Given the description of an element on the screen output the (x, y) to click on. 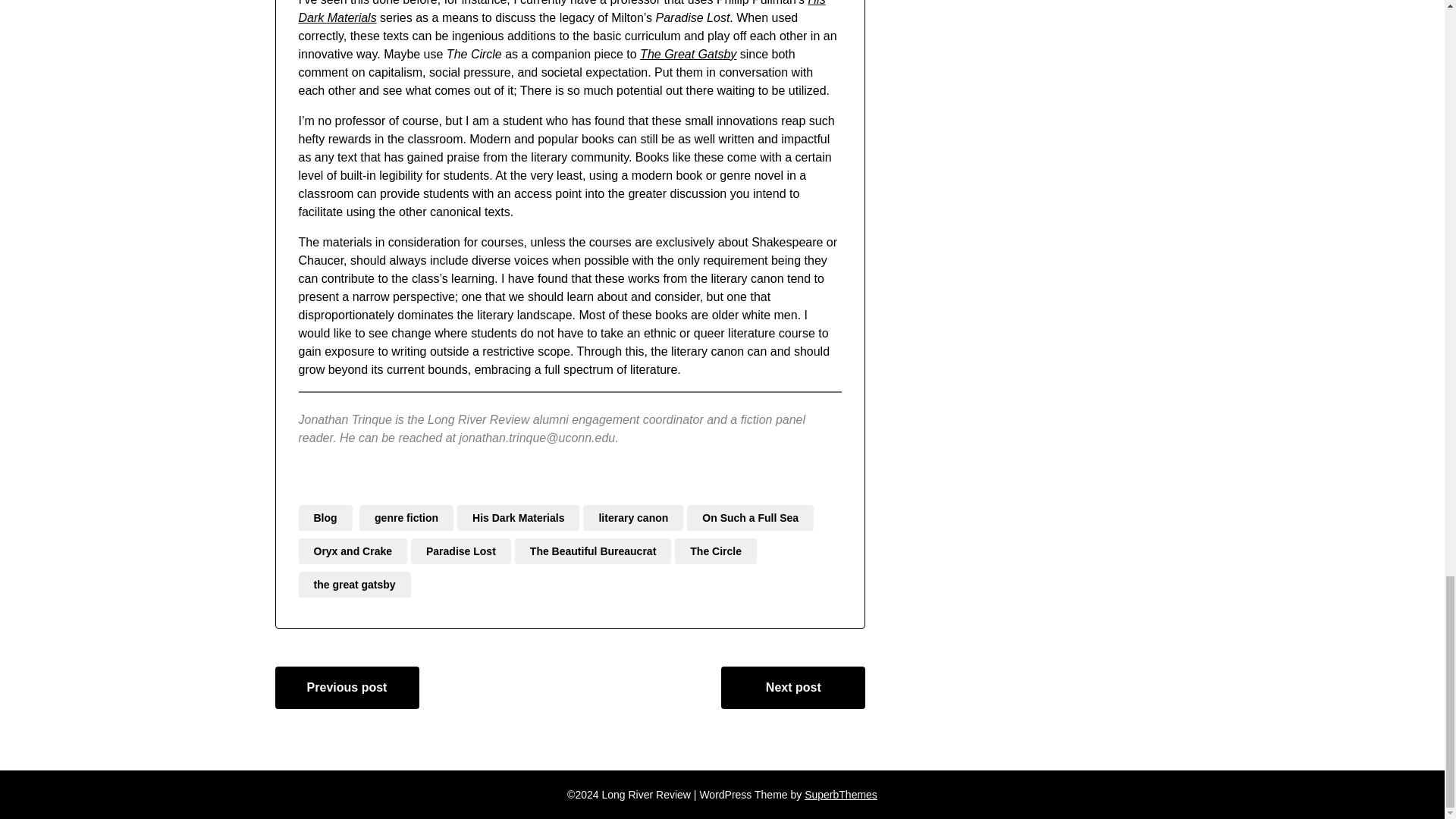
His Dark Materials (518, 517)
On Such a Full Sea (750, 517)
His Dark Materials (561, 12)
Oryx and Crake (352, 551)
literary canon (632, 517)
The Great Gatsby (688, 53)
Blog (325, 517)
genre fiction (405, 517)
